Given the description of an element on the screen output the (x, y) to click on. 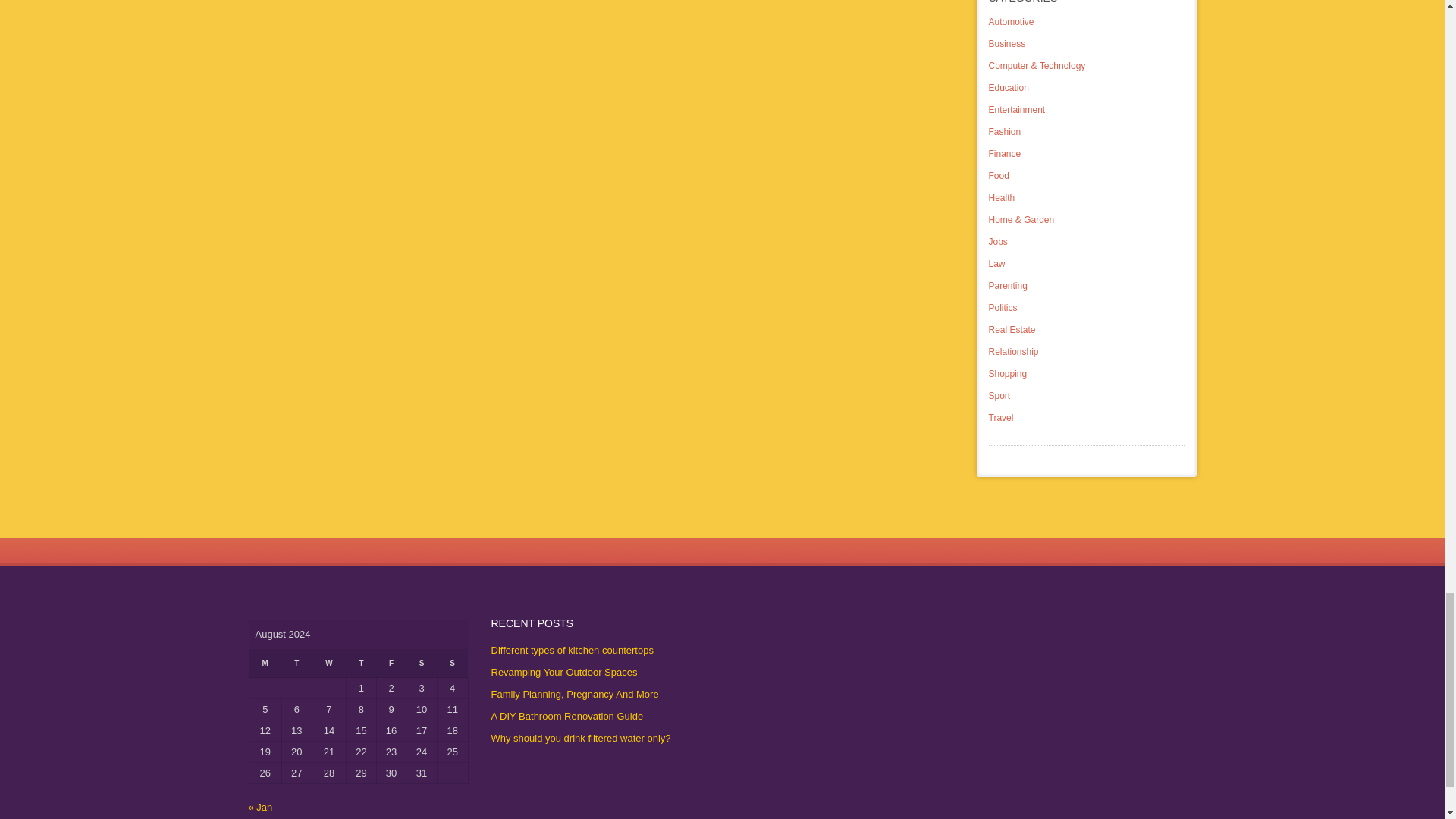
Wednesday (328, 663)
Friday (390, 663)
Monday (265, 663)
Sunday (451, 663)
Saturday (422, 663)
Tuesday (297, 663)
Thursday (361, 663)
